Given the description of an element on the screen output the (x, y) to click on. 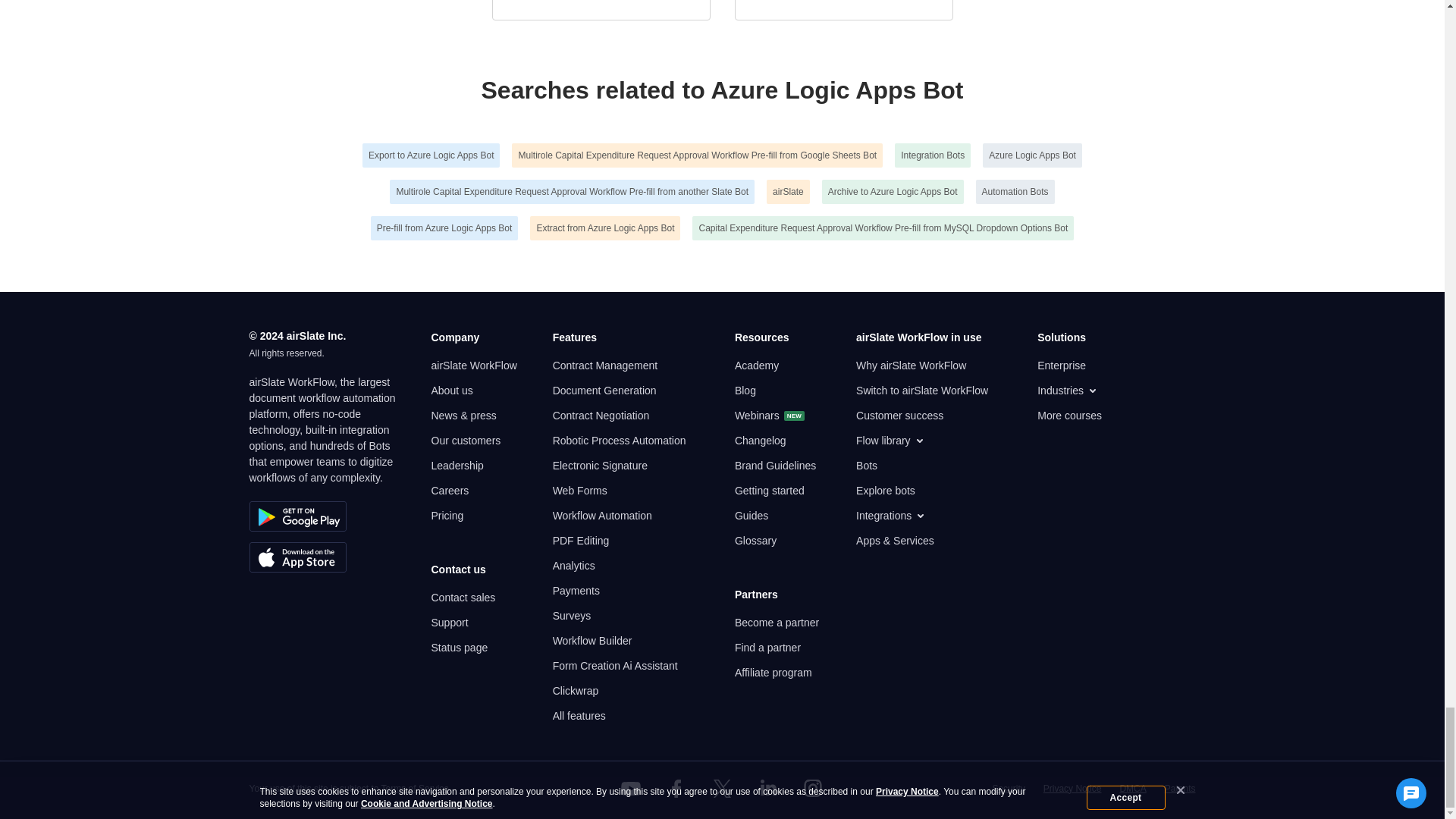
LinkedIn (767, 788)
Facebook (676, 788)
Twitter (721, 788)
Instagram (812, 788)
YouTube (630, 788)
